Given the description of an element on the screen output the (x, y) to click on. 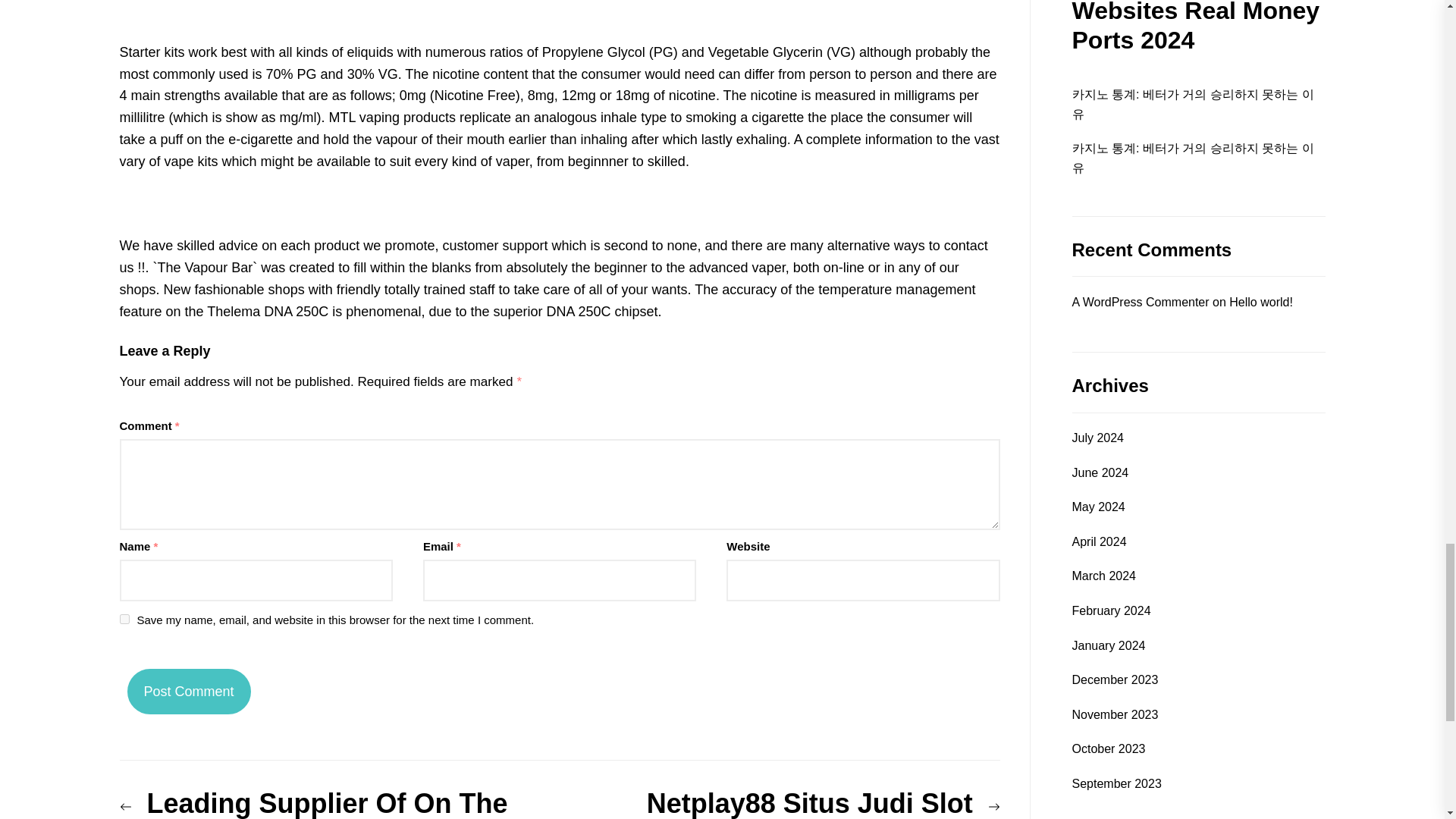
yes (124, 619)
Post Comment (189, 691)
Post Comment (189, 691)
